Given the description of an element on the screen output the (x, y) to click on. 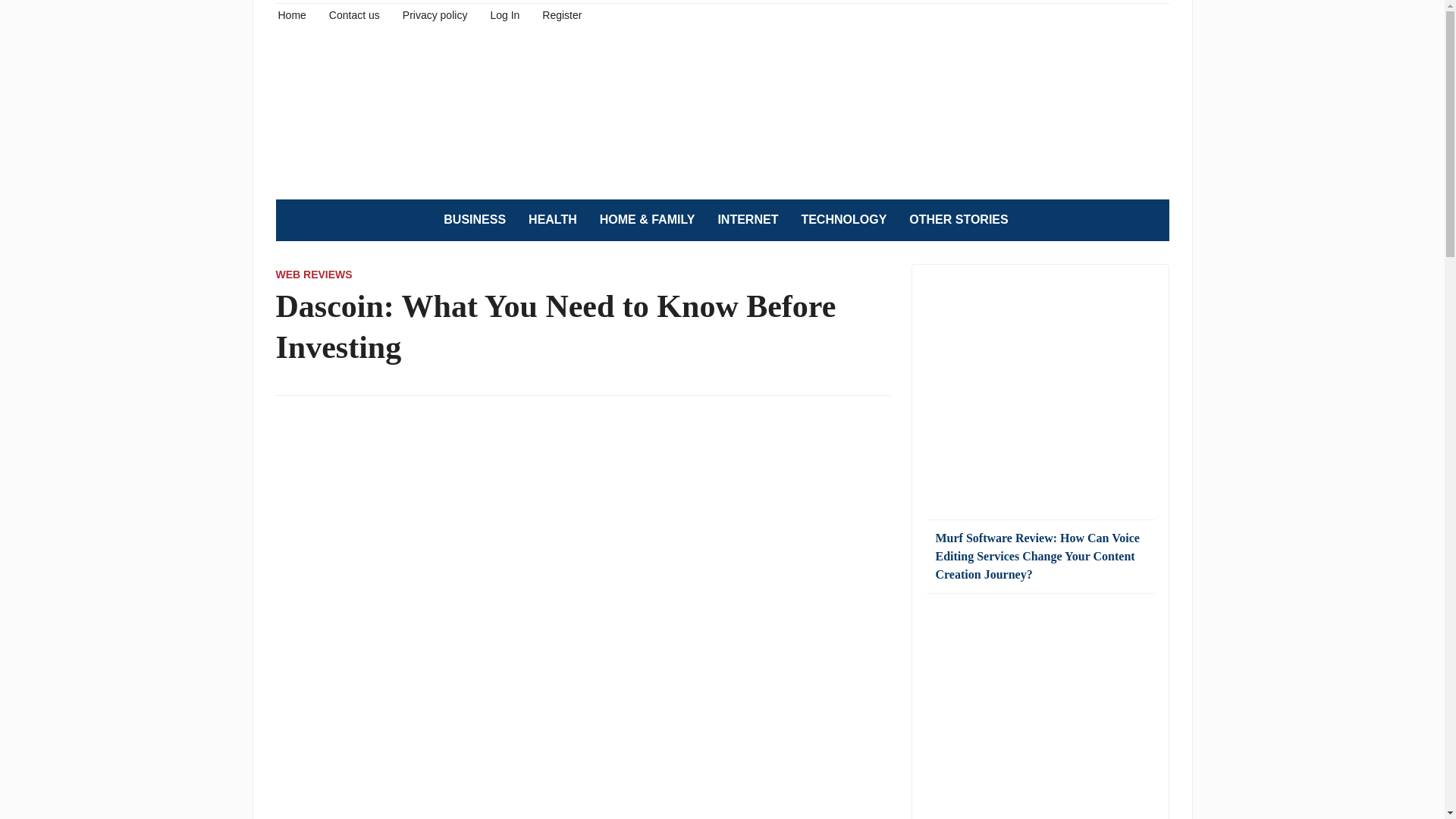
Log In (504, 14)
Home (291, 14)
Register (560, 14)
Search (1149, 219)
Privacy policy (435, 14)
Contact us (354, 14)
